Given the description of an element on the screen output the (x, y) to click on. 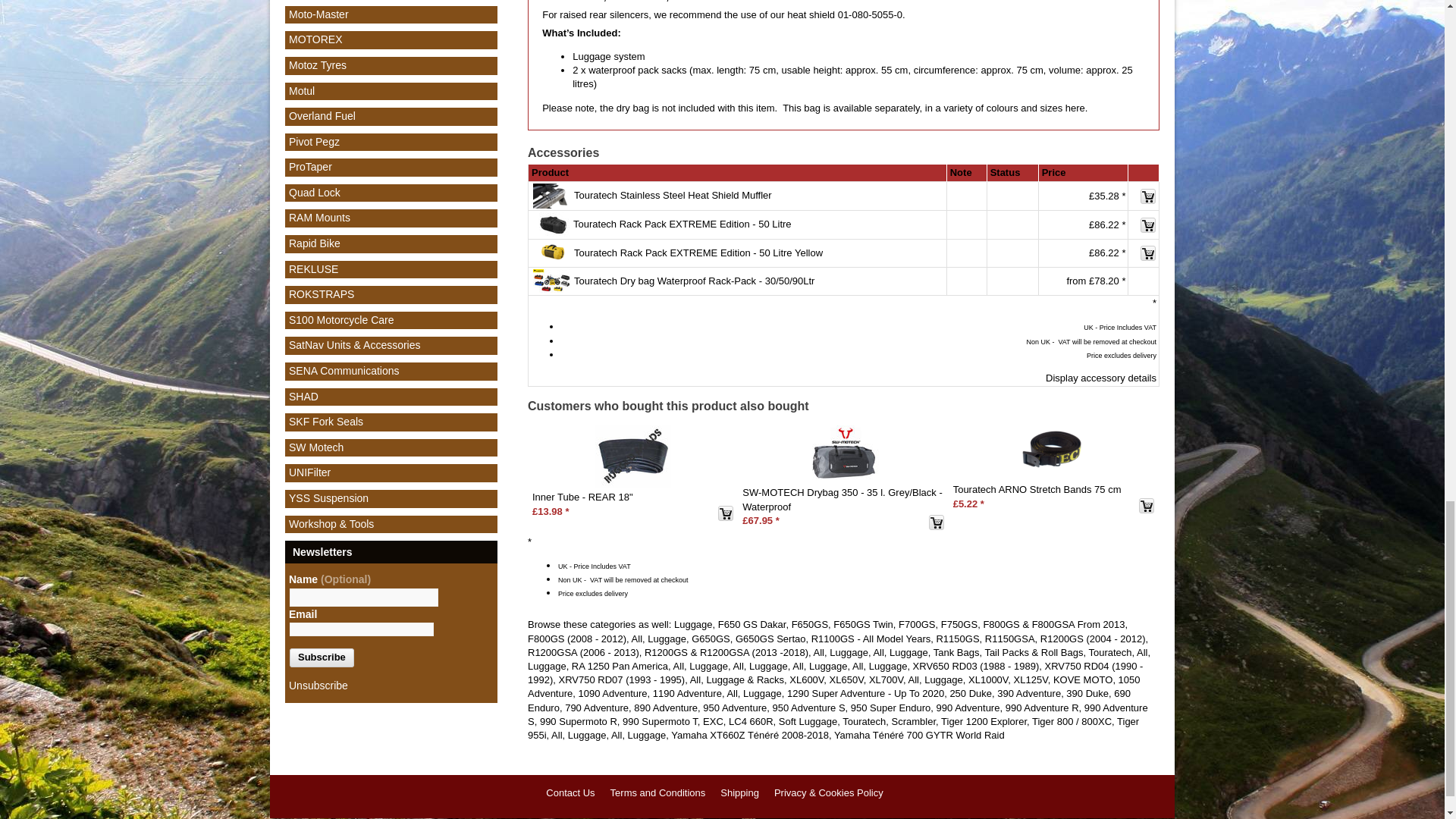
Add to basket (1148, 253)
Touratech ARNO Stretch Bands 75 cm (1054, 452)
Out Of Stock (1011, 196)
Add to basket (1148, 224)
In stock (1011, 224)
In stock (1011, 254)
Add to basket (935, 522)
Add to basket (1148, 196)
Add to basket (725, 513)
Inner Tube - REAR 18" (633, 456)
Add to basket (1146, 505)
